Given the description of an element on the screen output the (x, y) to click on. 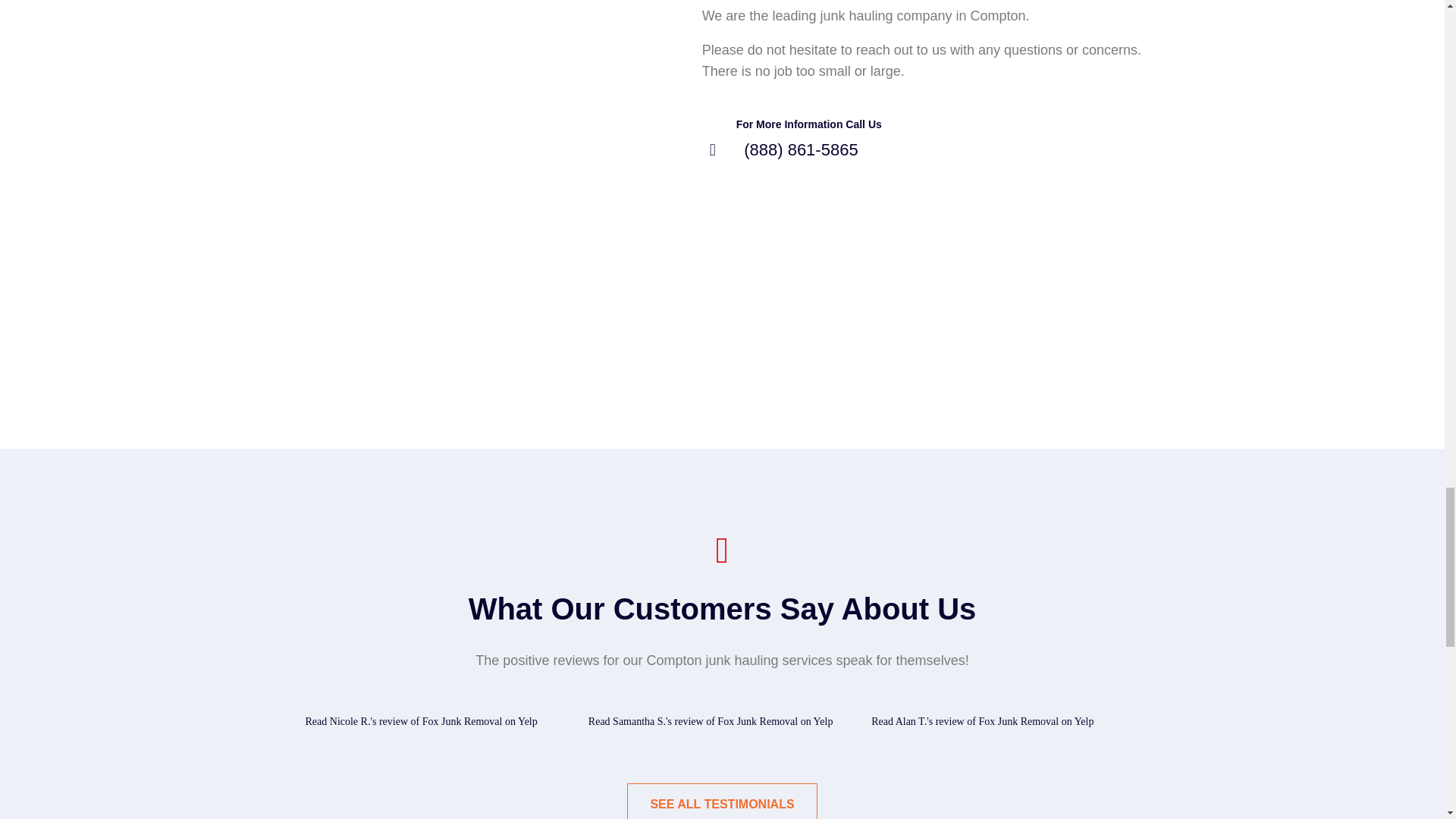
review (689, 721)
Nicole R. (350, 721)
Fox Junk Removal (462, 721)
SEE ALL TESTIMONIALS (721, 800)
Yelp (822, 721)
Fox Junk Removal (1018, 721)
Compton, CA (436, 115)
review (392, 721)
Fox Junk Removal (757, 721)
Samantha S. (638, 721)
